Given the description of an element on the screen output the (x, y) to click on. 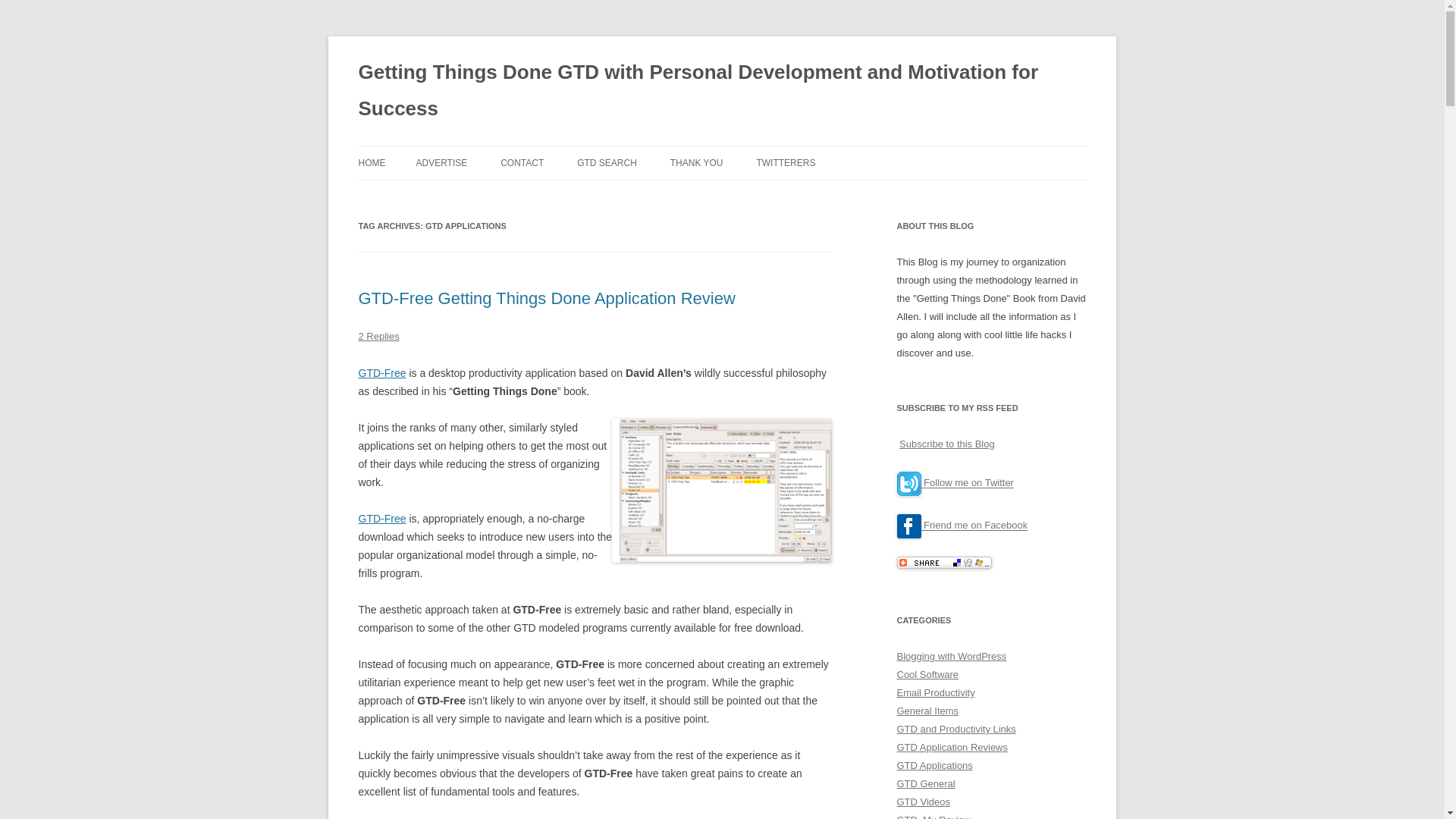
GTD SEARCH (606, 162)
GTD-Free (382, 518)
GTD-Free Getting Things Done Application Review (546, 298)
ADVERTISE (440, 162)
2 Replies (378, 336)
CONTACT (521, 162)
